Given the description of an element on the screen output the (x, y) to click on. 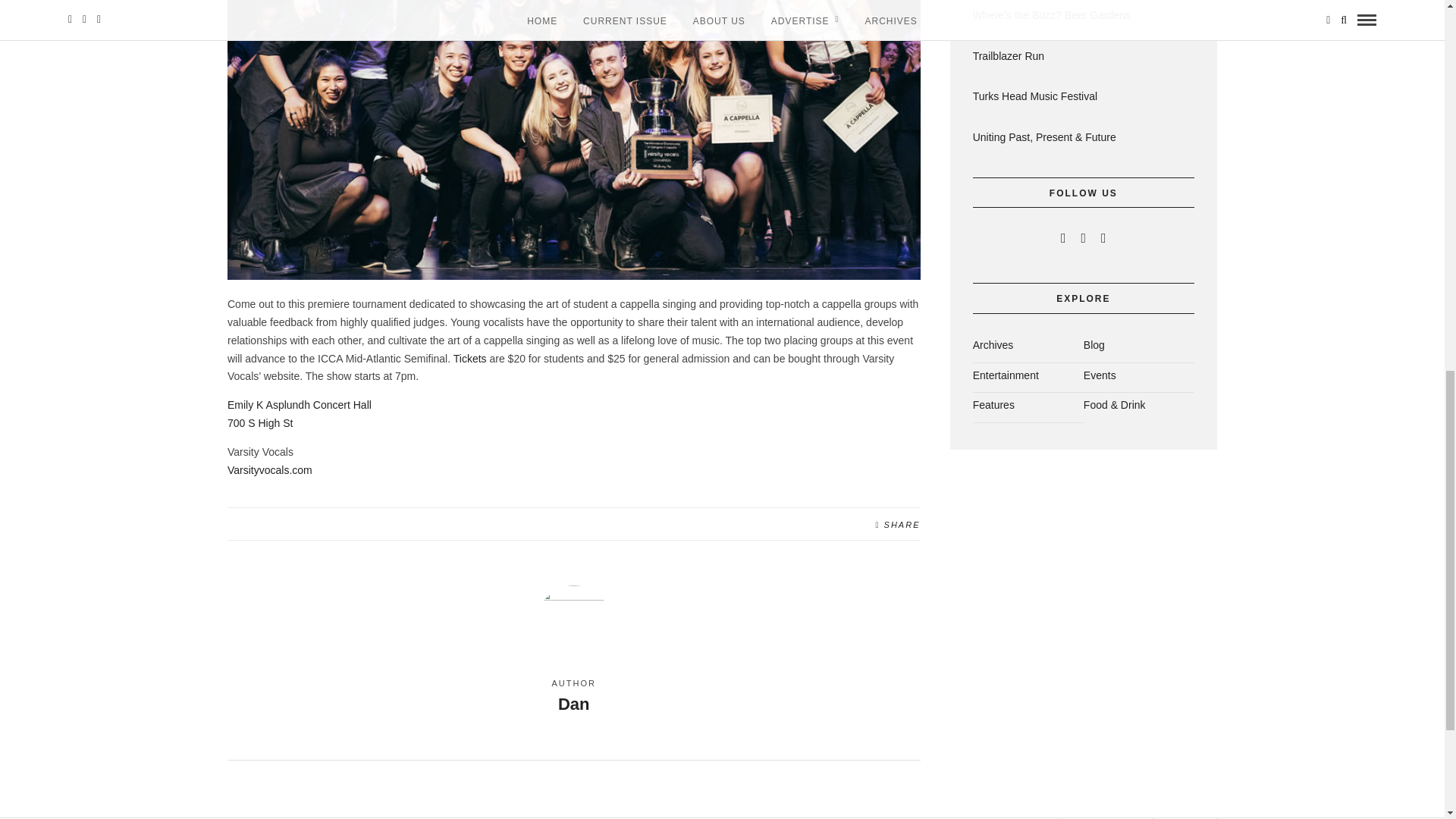
Turks Head Music Festival (1082, 96)
Tickets (469, 358)
Facebook (1063, 237)
Varsityvocals.com (270, 469)
Instagram (1103, 237)
Archives (992, 349)
Trailblazer Run (1082, 56)
Entertainment (1005, 379)
Blog (1094, 349)
Twitter (299, 413)
